Given the description of an element on the screen output the (x, y) to click on. 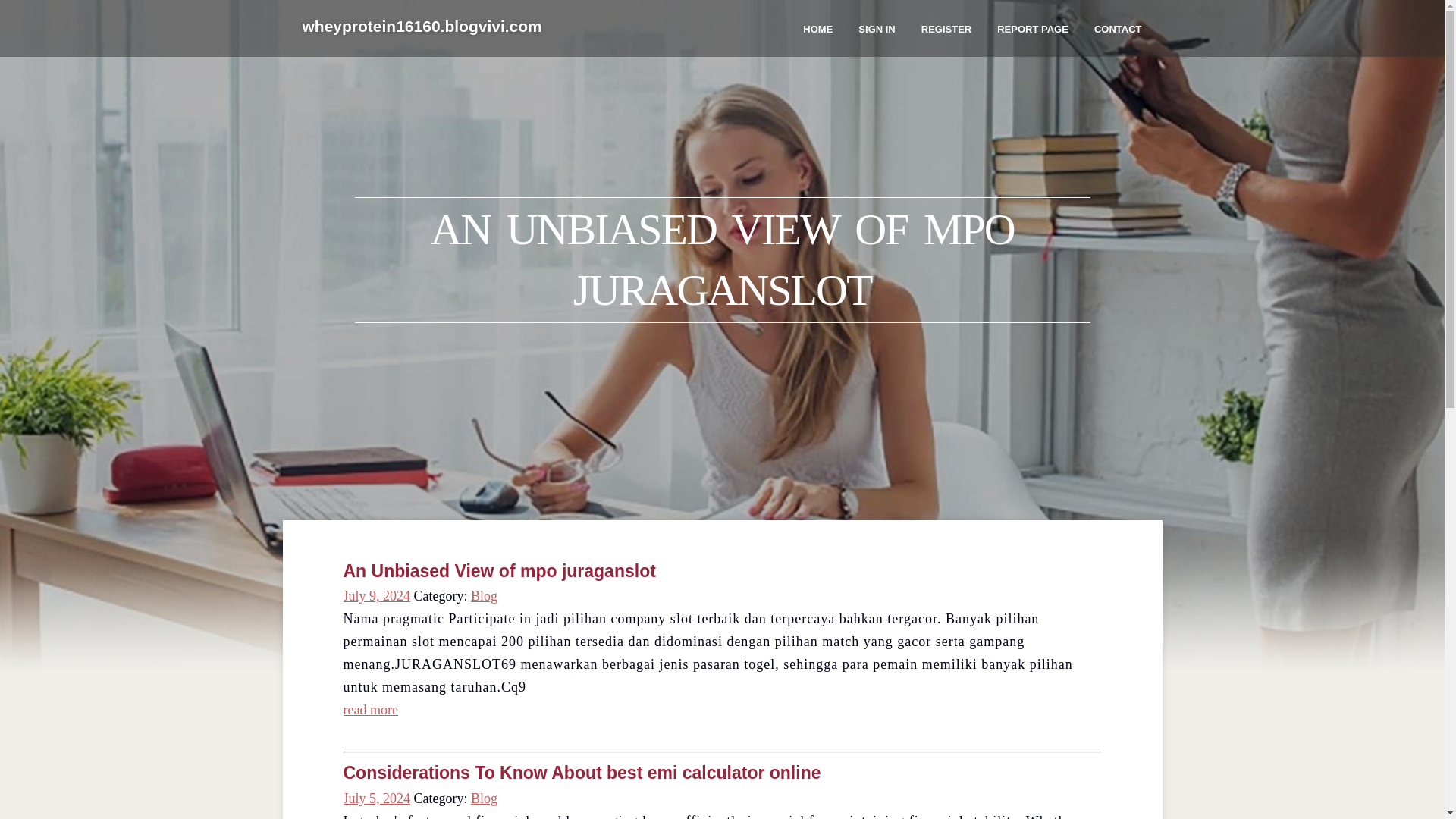
July 9, 2024 (376, 595)
Blog (483, 798)
Blog (483, 595)
HOME (817, 28)
REGISTER (946, 28)
Considerations To Know About best emi calculator online (581, 772)
read more (369, 709)
CONTACT (1117, 28)
SIGN IN (876, 28)
An Unbiased View of mpo juraganslot (498, 570)
wheyprotein16160.blogvivi.com (421, 27)
July 5, 2024 (376, 798)
REPORT PAGE (1032, 28)
